Given the description of an element on the screen output the (x, y) to click on. 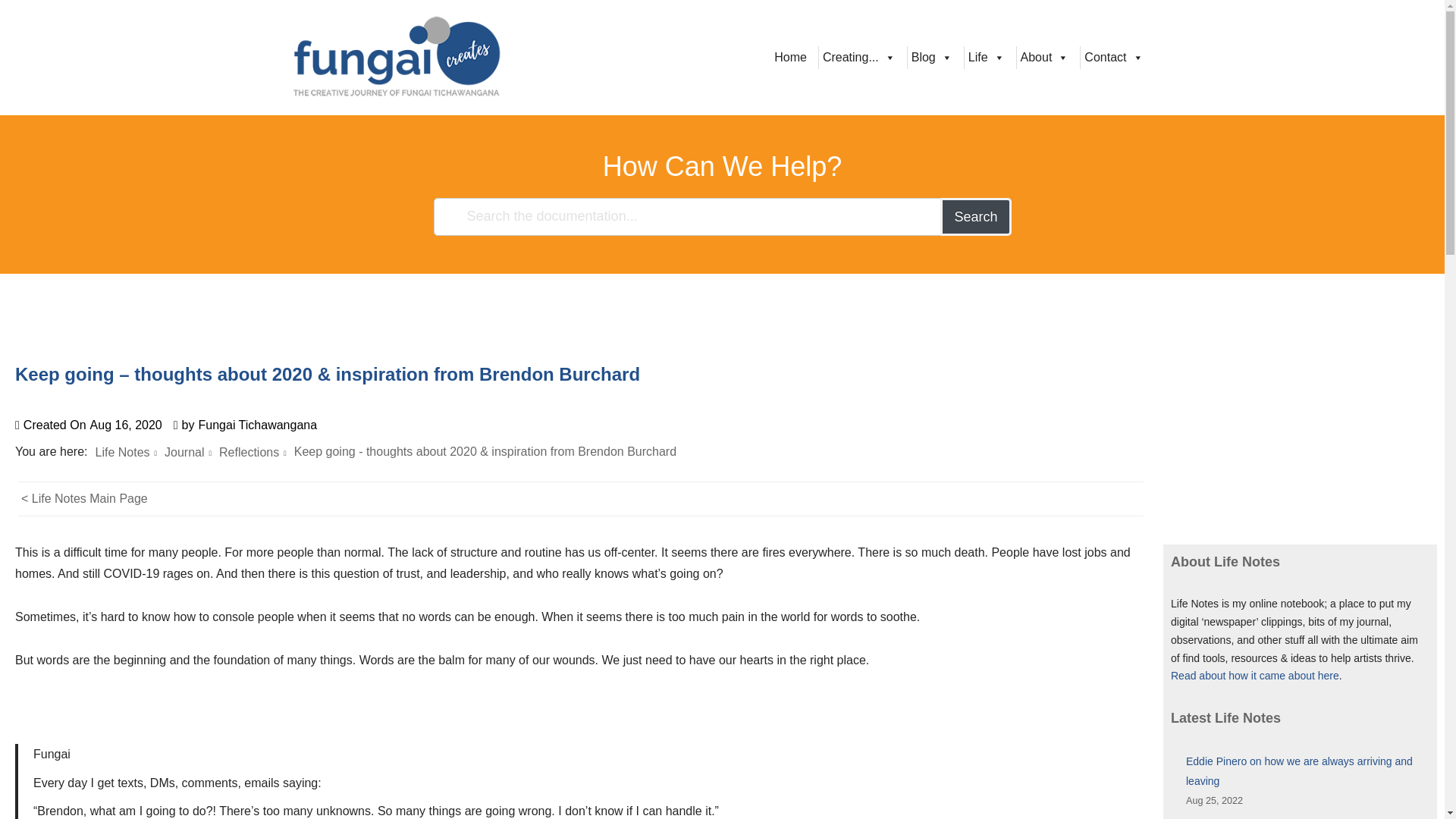
Skip to content (11, 31)
Home (790, 56)
Contact (1113, 56)
Fungai Creates (395, 57)
About (1044, 56)
Blog (931, 56)
Life (986, 56)
Creating... (858, 56)
